Given the description of an element on the screen output the (x, y) to click on. 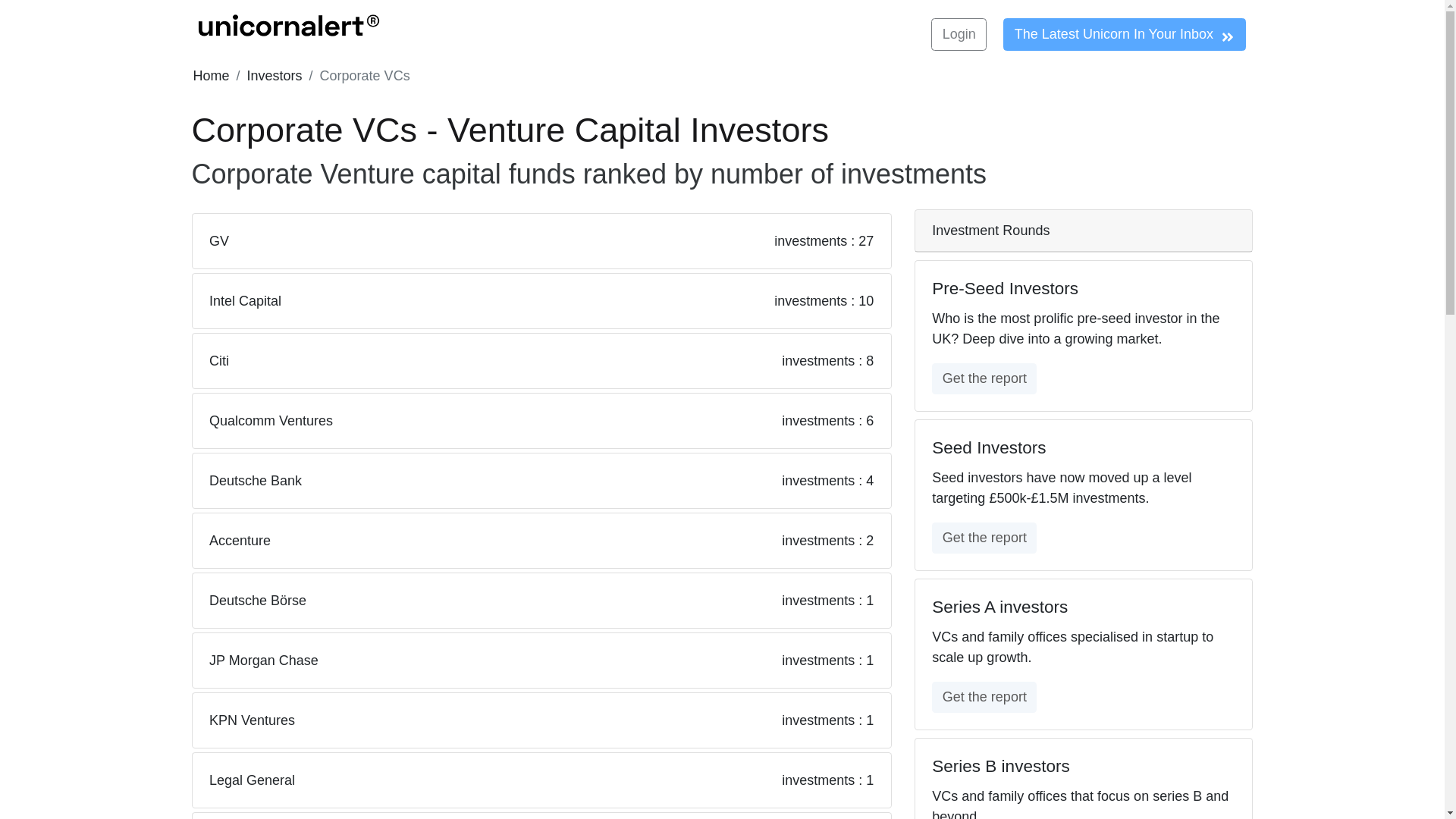
Citi (218, 360)
Get the report (983, 696)
Get the report (983, 537)
Get the report (983, 536)
Login (959, 32)
Intel Capital (245, 300)
GV (218, 240)
Login (959, 34)
Legal General (252, 780)
Investors (274, 75)
KPN Ventures (252, 720)
Deutsche Bank (255, 480)
Home (210, 75)
Get the report (983, 377)
Qualcomm Ventures (271, 420)
